Given the description of an element on the screen output the (x, y) to click on. 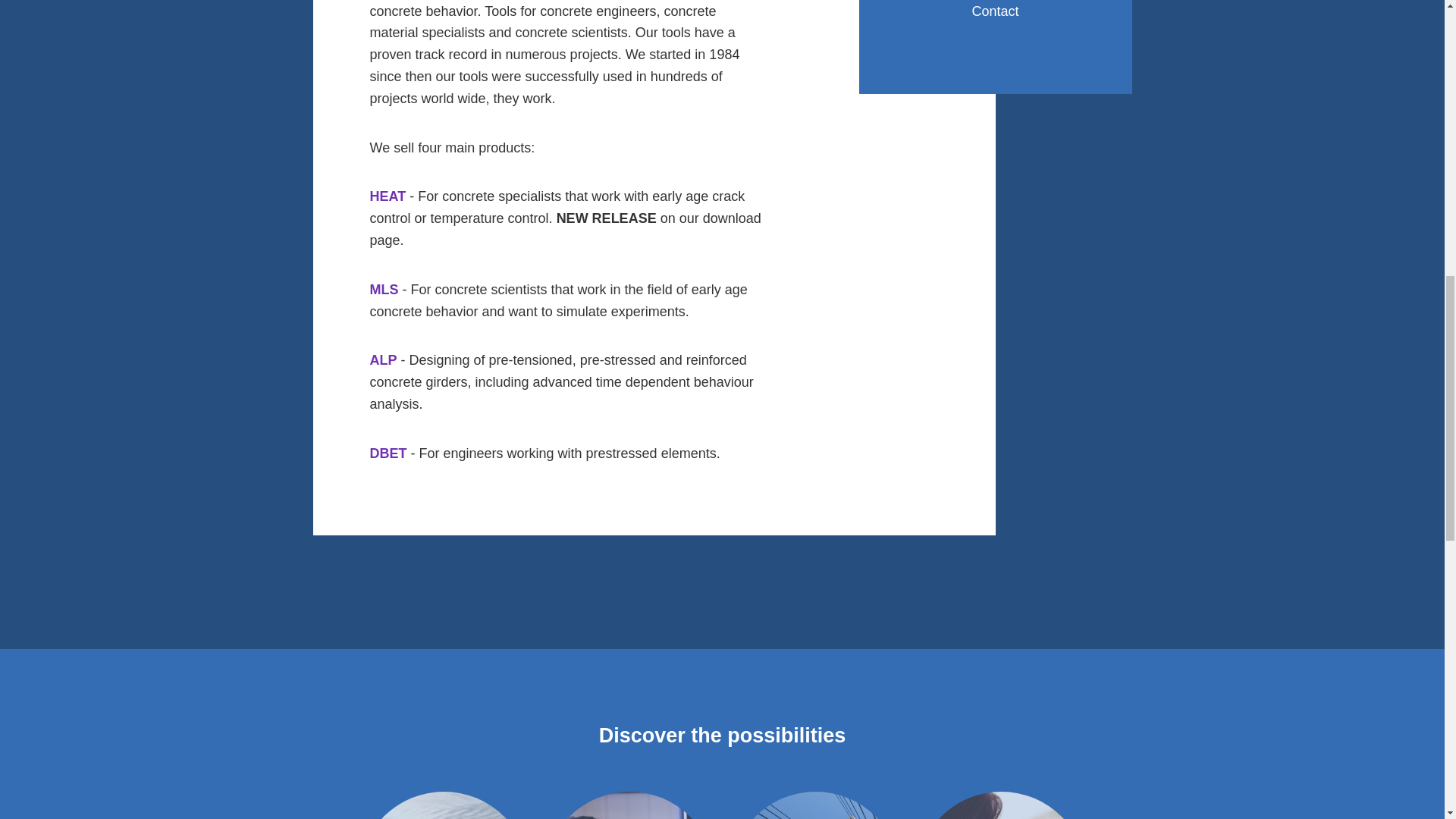
HEAT (387, 196)
DBET (388, 453)
DBET (388, 453)
ALP (383, 359)
MLS (383, 289)
ALP (383, 359)
HEAT (387, 196)
MLS (383, 289)
